Given the description of an element on the screen output the (x, y) to click on. 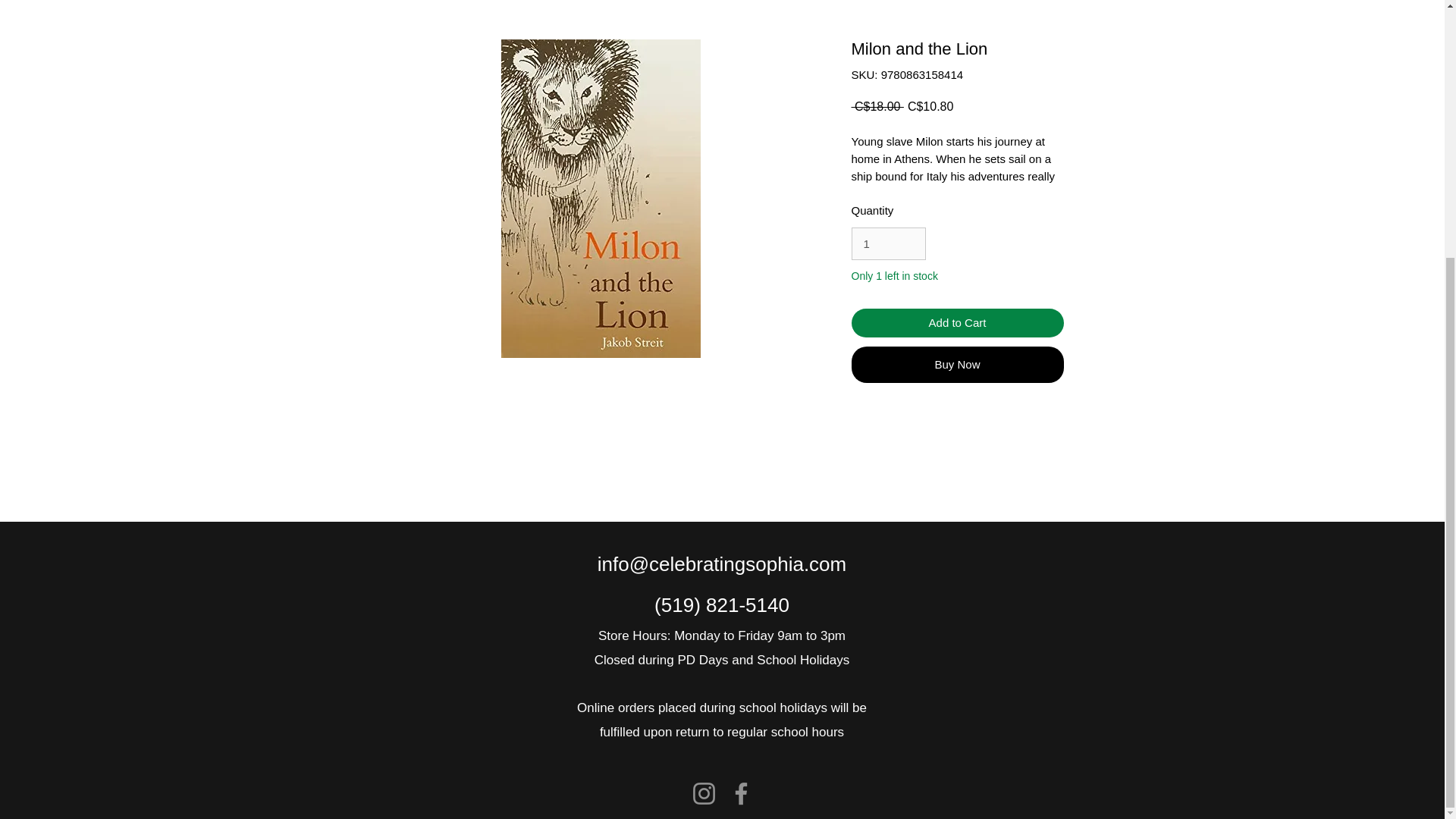
Add to Cart (956, 323)
1 (887, 244)
Buy Now (956, 364)
